Given the description of an element on the screen output the (x, y) to click on. 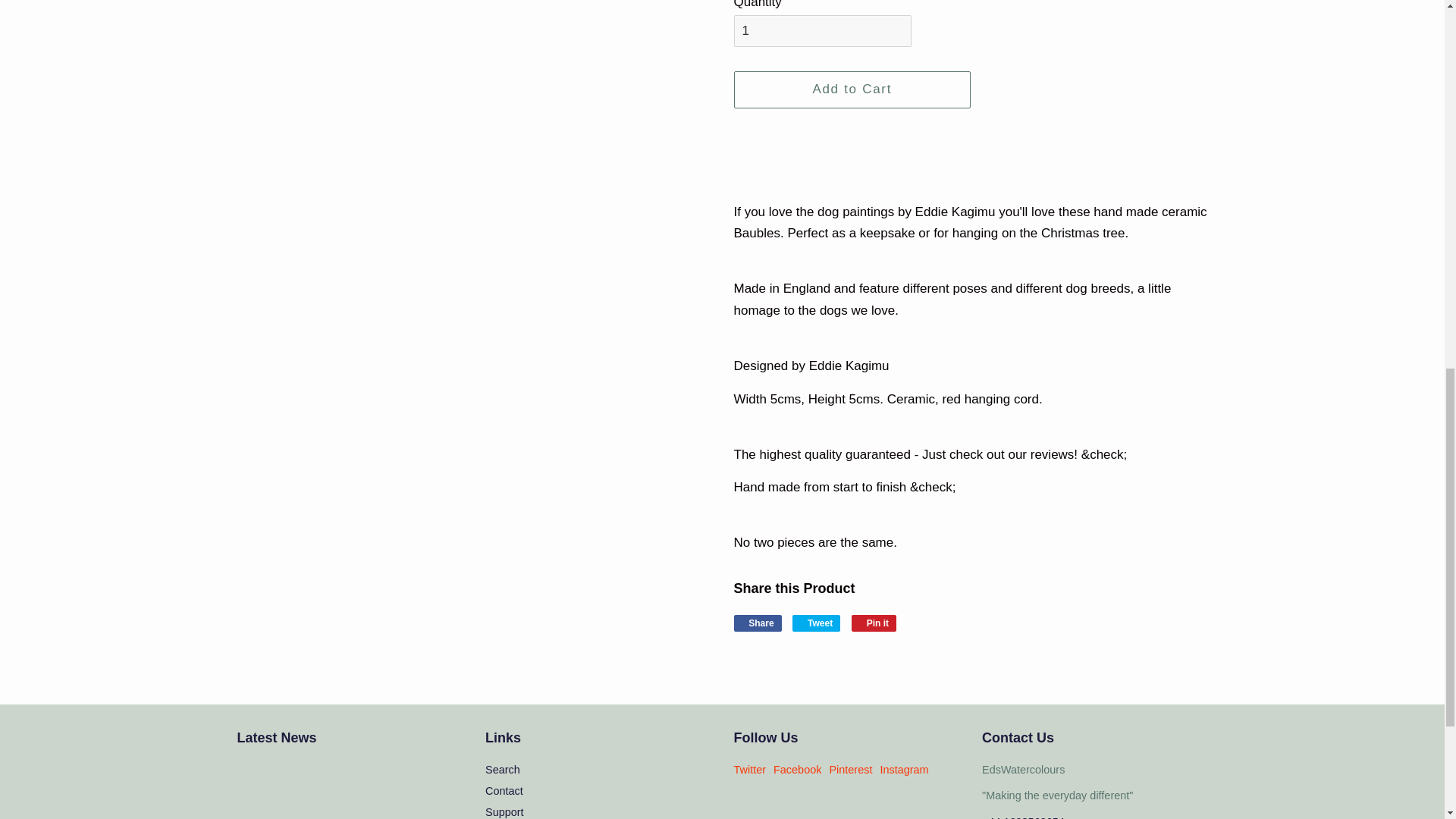
Tweet on Twitter (816, 623)
EdsWatercoloursArt on Instagram (903, 769)
EdsWatercoloursArt on Twitter (750, 769)
Share on Facebook (757, 623)
EdsWatercoloursArt on Pinterest (850, 769)
EdsWatercoloursArt on Facebook (797, 769)
Pin on Pinterest (873, 623)
1 (822, 30)
CONTACT (1056, 795)
